Given the description of an element on the screen output the (x, y) to click on. 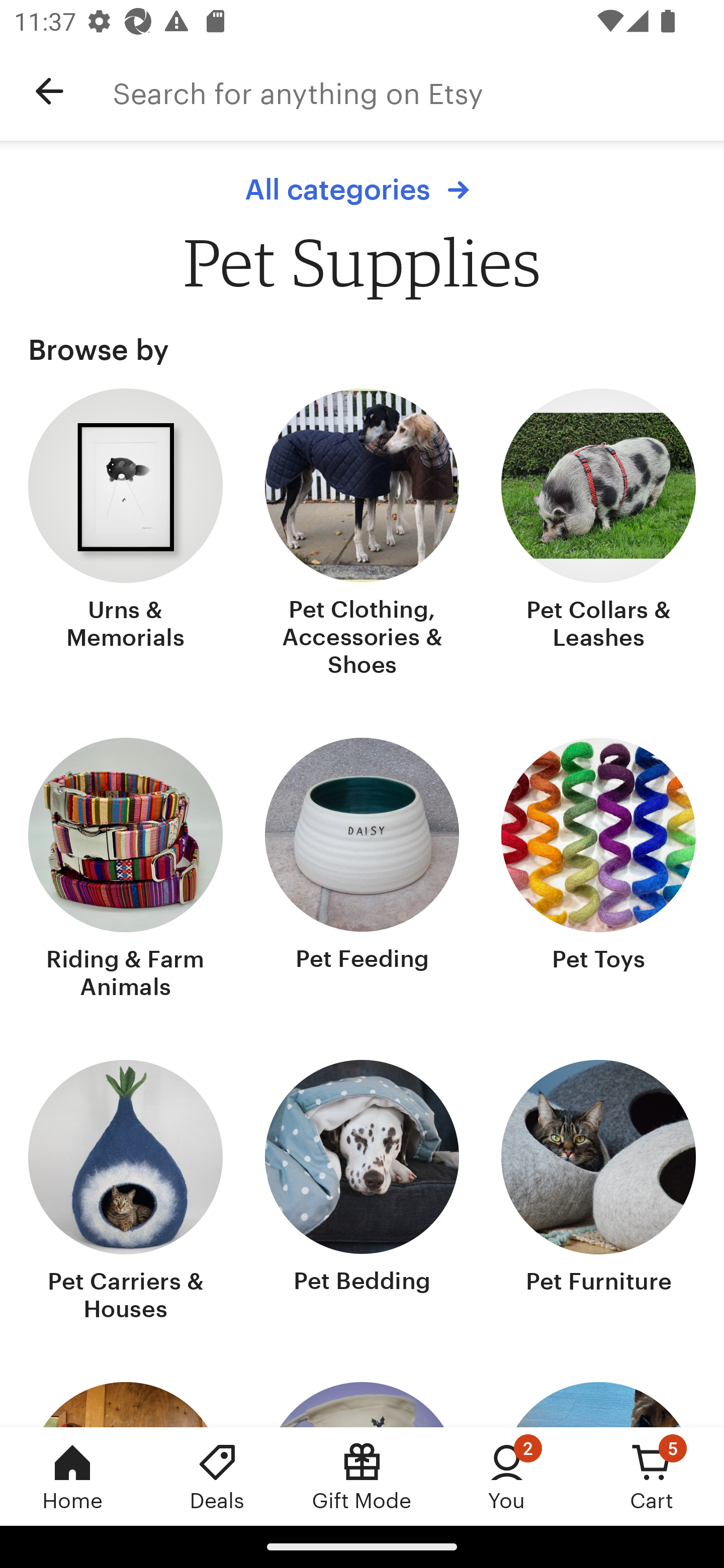
Navigate up (49, 91)
Search for anything on Etsy (418, 91)
All categories (361, 189)
Urns & Memorials (125, 535)
Pet Clothing, Accessories & Shoes (361, 535)
Pet Collars & Leashes (598, 535)
Riding & Farm Animals (125, 870)
Pet Feeding (361, 870)
Pet Toys (598, 870)
Pet Carriers & Houses (125, 1192)
Pet Bedding (361, 1192)
Pet Furniture (598, 1192)
Deals (216, 1475)
Gift Mode (361, 1475)
You, 2 new notifications You (506, 1475)
Cart, 5 new notifications Cart (651, 1475)
